Given the description of an element on the screen output the (x, y) to click on. 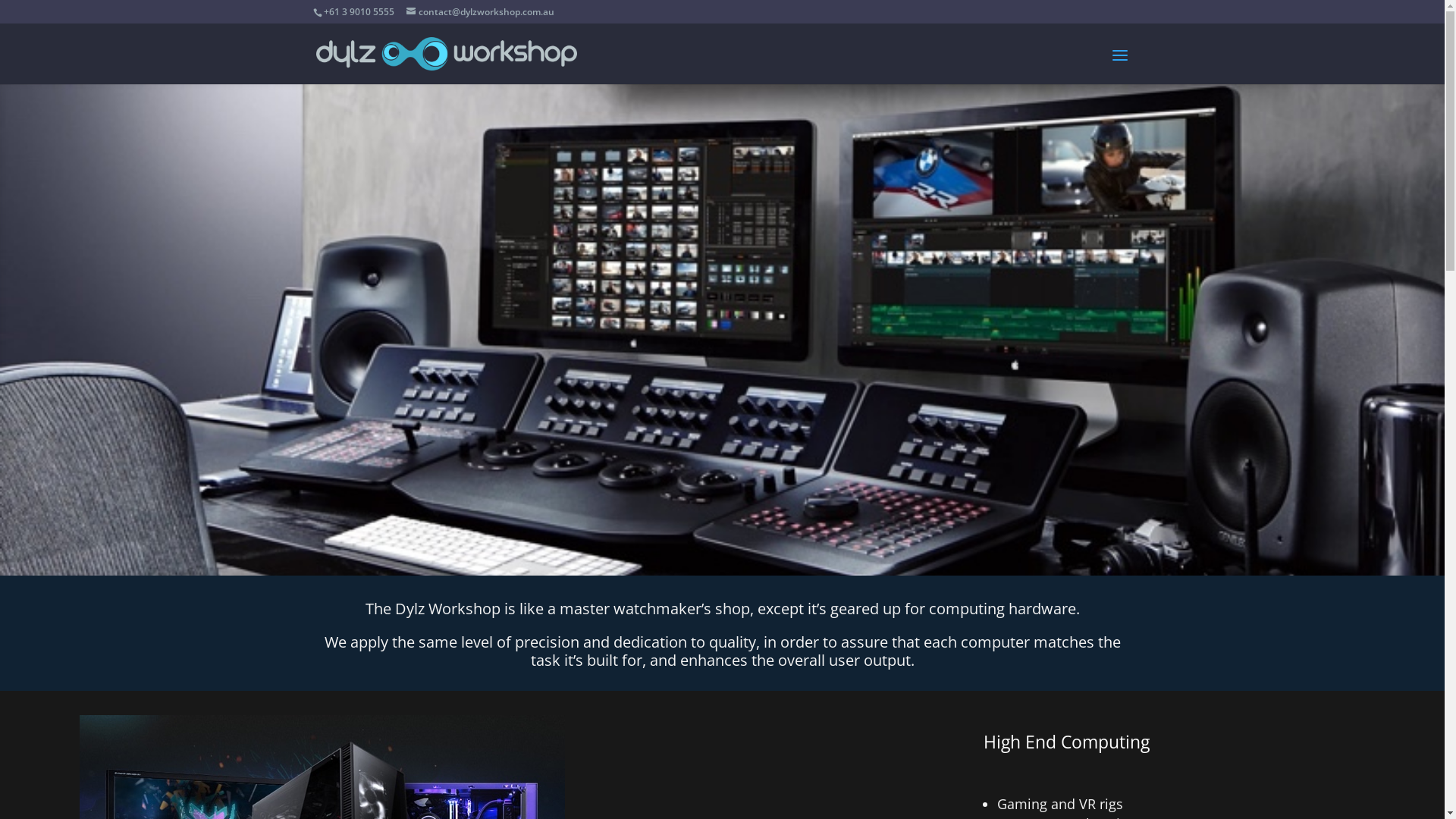
contact@dylzworkshop.com.au Element type: text (480, 11)
